Given the description of an element on the screen output the (x, y) to click on. 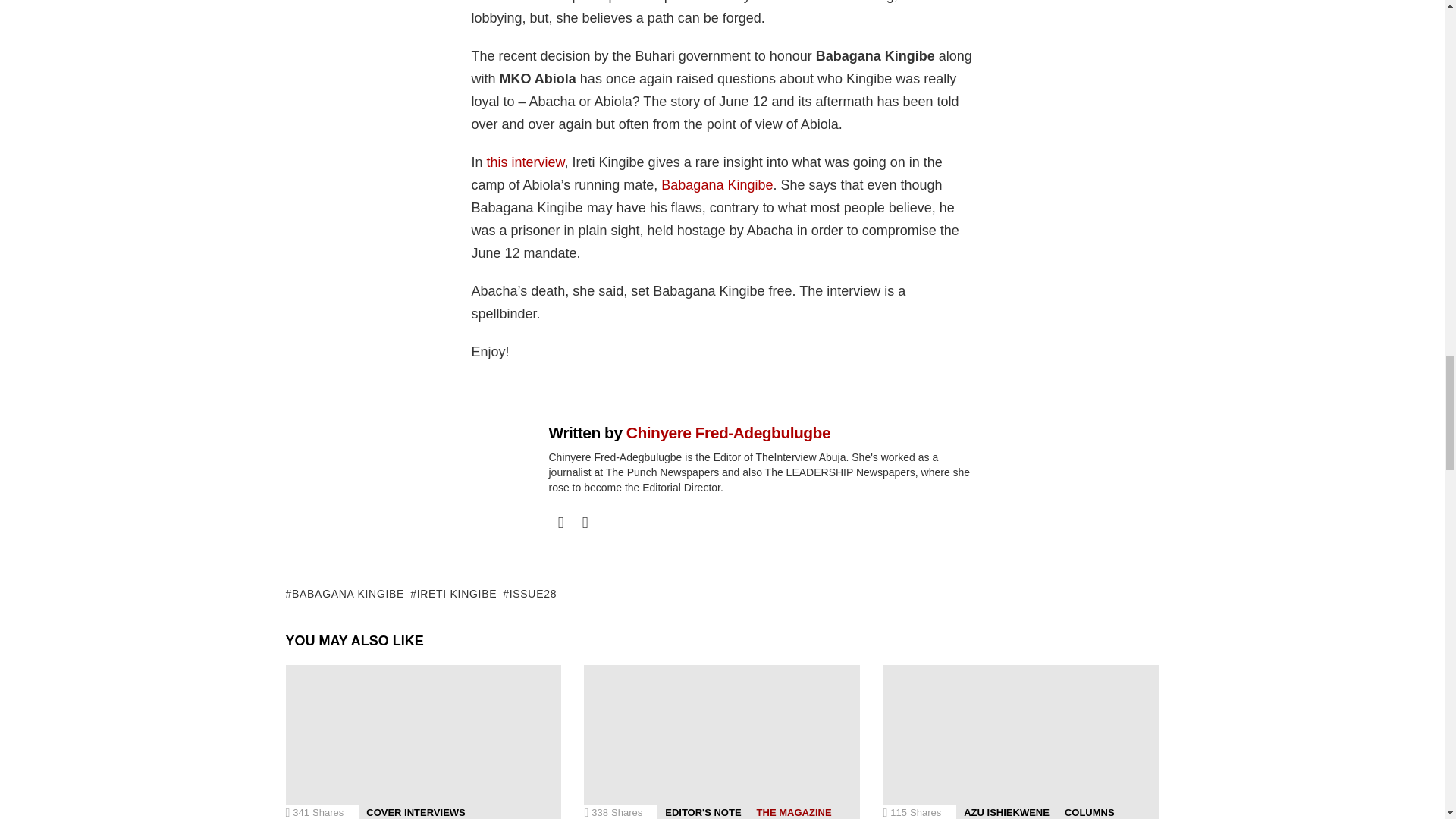
Chinyere Fred-Adegbulugbe (727, 432)
BABAGANA KINGIBE (344, 593)
facebook (560, 522)
Babagana Kingibe (717, 184)
this interview (525, 161)
linkedin (584, 522)
IRETI KINGIBE (453, 593)
ISSUE28 (529, 593)
